Given the description of an element on the screen output the (x, y) to click on. 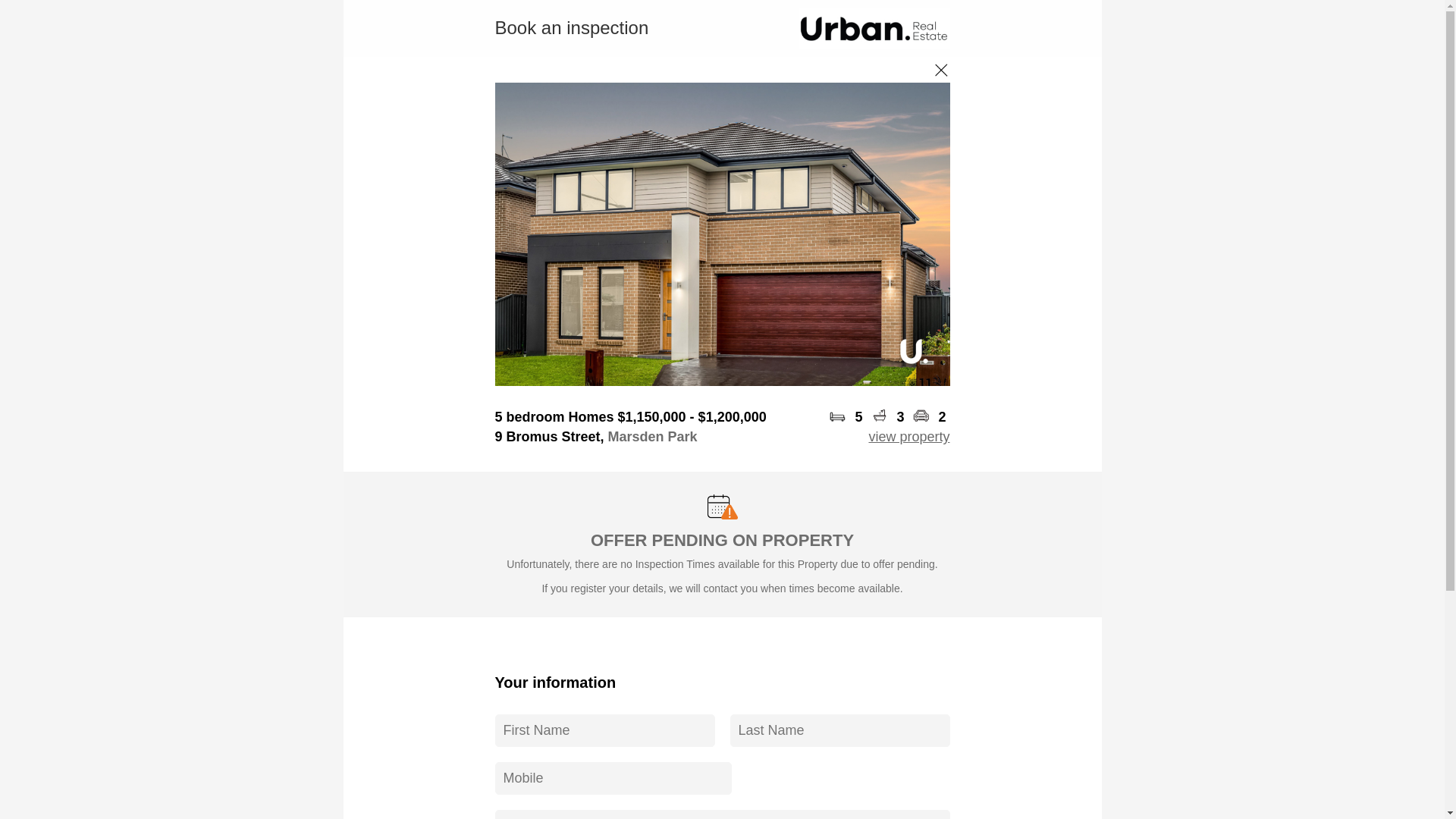
view property Element type: text (908, 436)
